Given the description of an element on the screen output the (x, y) to click on. 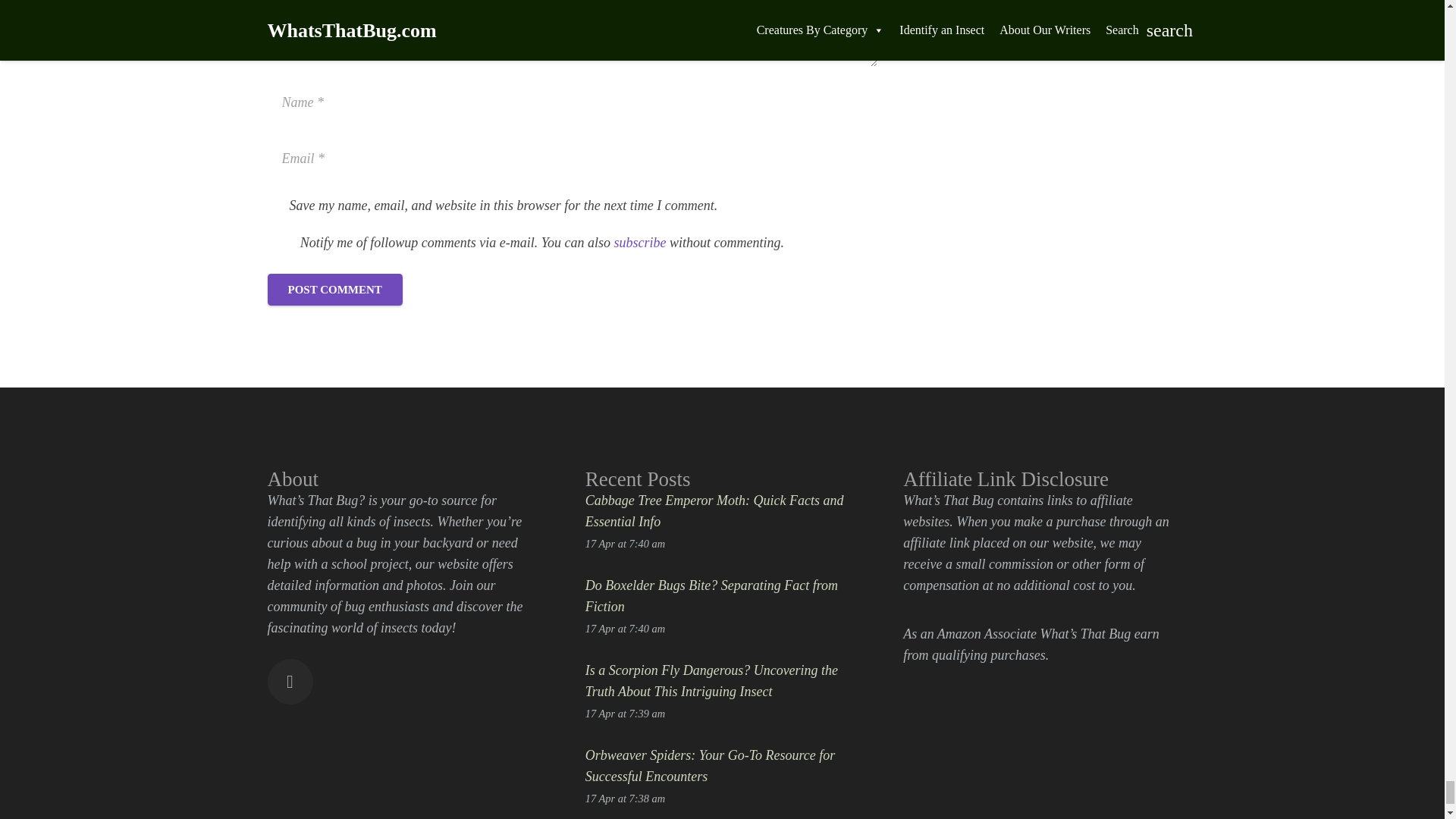
1 (274, 207)
yes (278, 241)
